Given the description of an element on the screen output the (x, y) to click on. 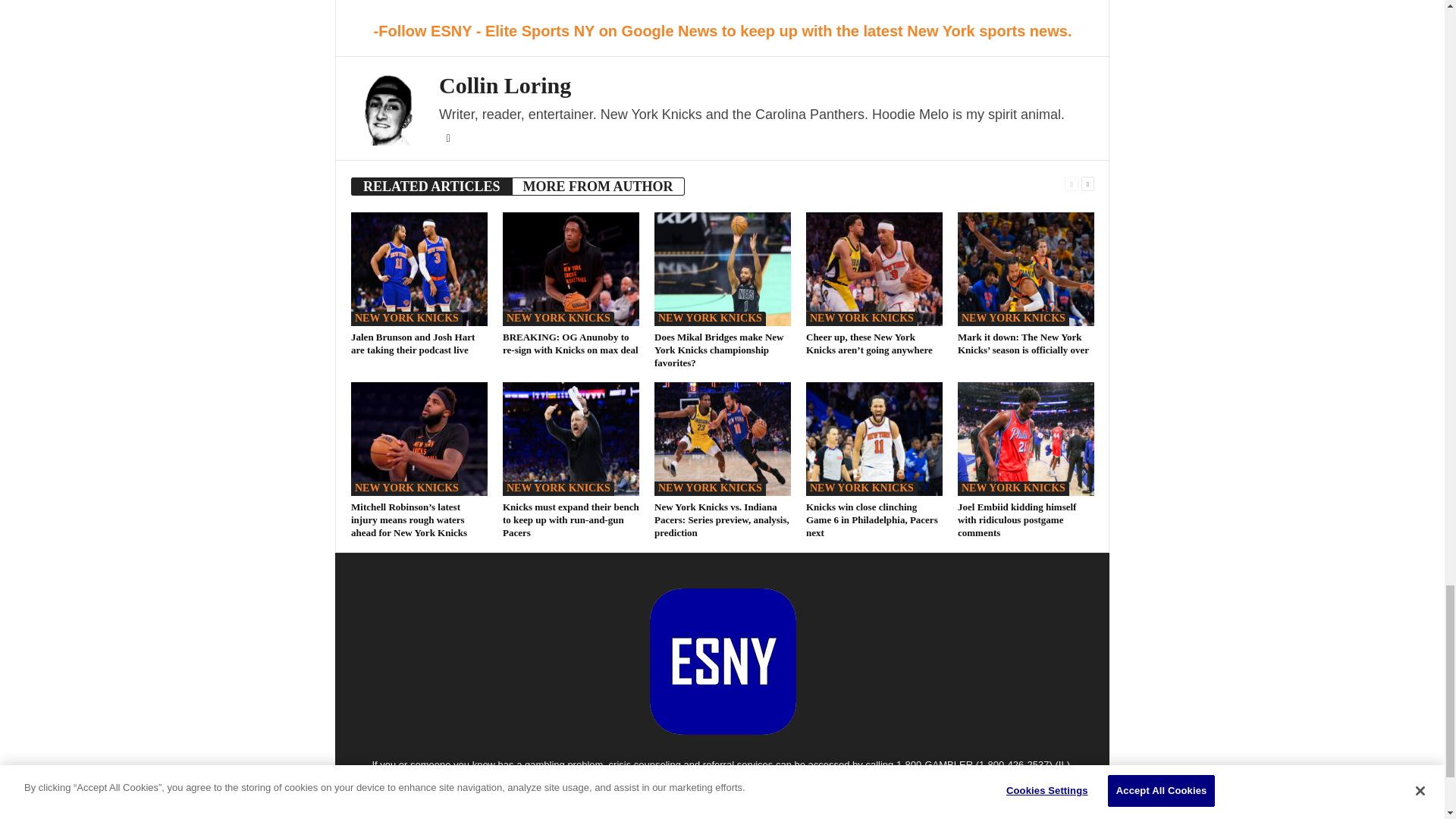
Jalen Brunson and Josh Hart are taking their podcast live (412, 343)
Facebook (448, 138)
Jalen Brunson and Josh Hart are taking their podcast live (418, 268)
BREAKING: OG Anunoby to re-sign with Knicks on max deal (570, 268)
